Given the description of an element on the screen output the (x, y) to click on. 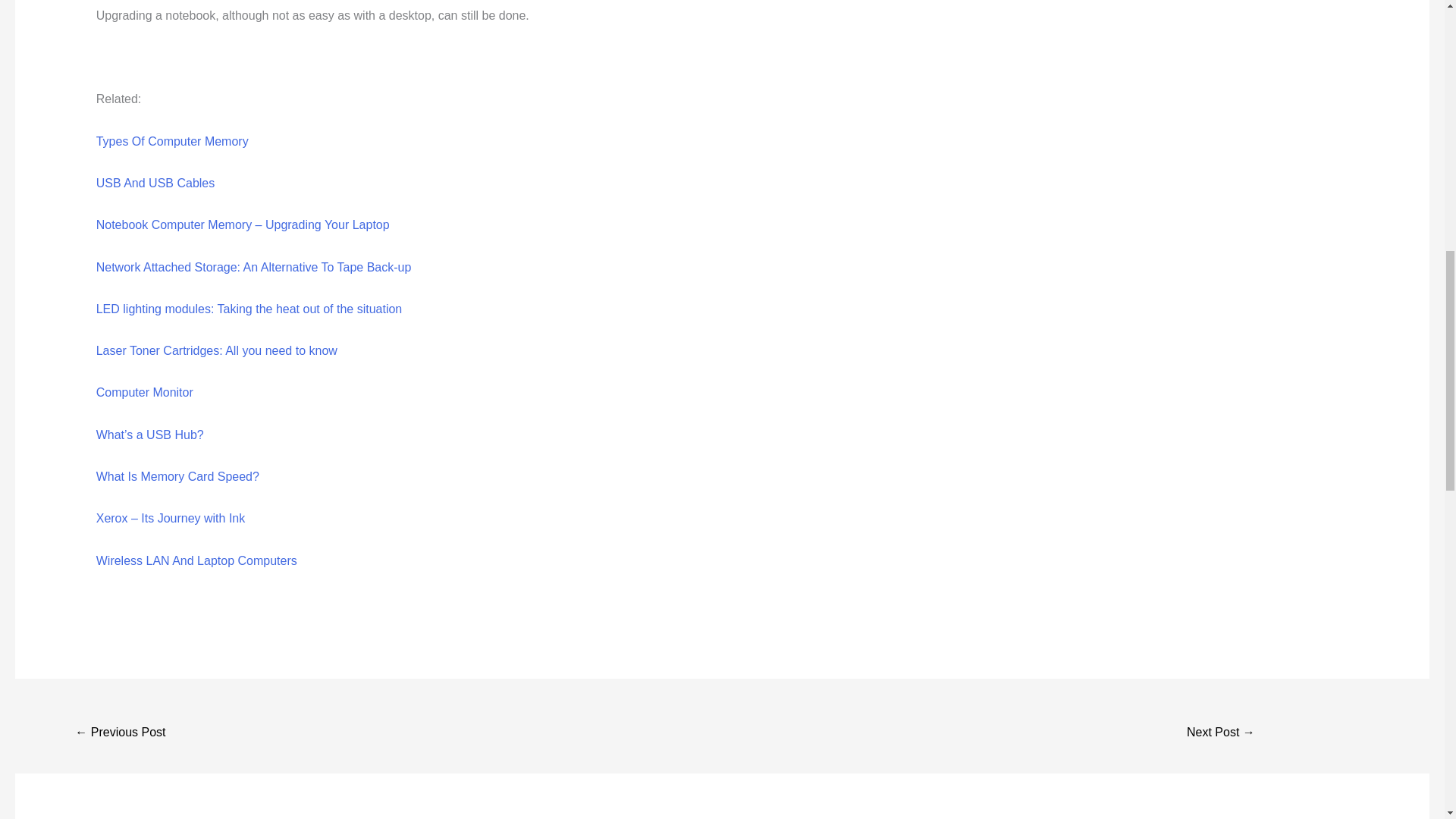
Wireless LAN And Laptop Computers (196, 560)
LED lighting modules: Taking the heat out of the situation (249, 308)
Computer Monitor (144, 391)
What's A Pen Drive? (119, 733)
Network Attached Storage: An Alternative To Tape Back-up (254, 267)
Laser Toner Cartridges: All you need to know (216, 350)
USB And USB Cables (155, 182)
The benefits of the Blu-ray disc (1220, 733)
Types Of Computer Memory (172, 141)
What Is Memory Card Speed? (177, 476)
